Given the description of an element on the screen output the (x, y) to click on. 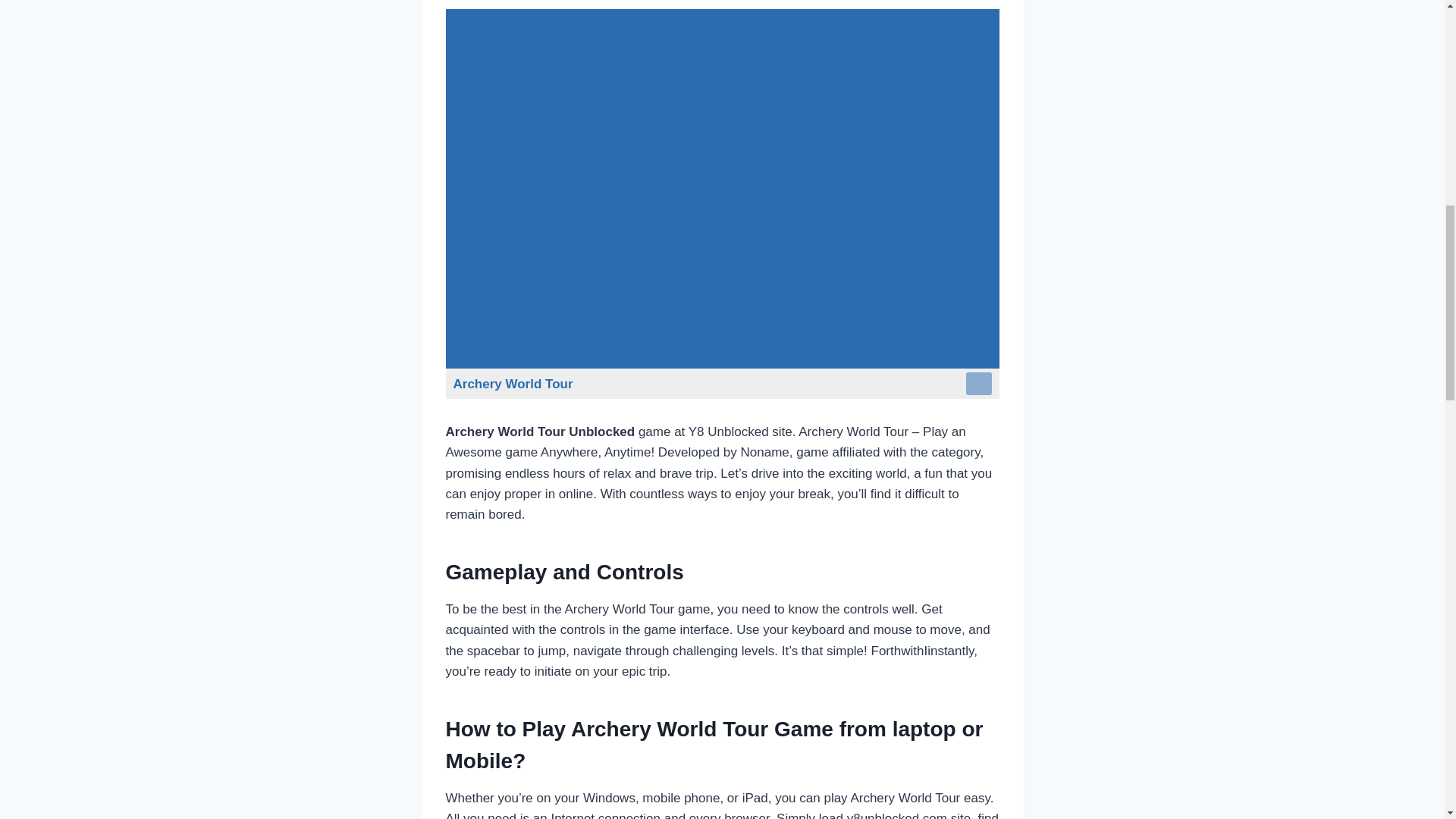
zoom (978, 383)
